Given the description of an element on the screen output the (x, y) to click on. 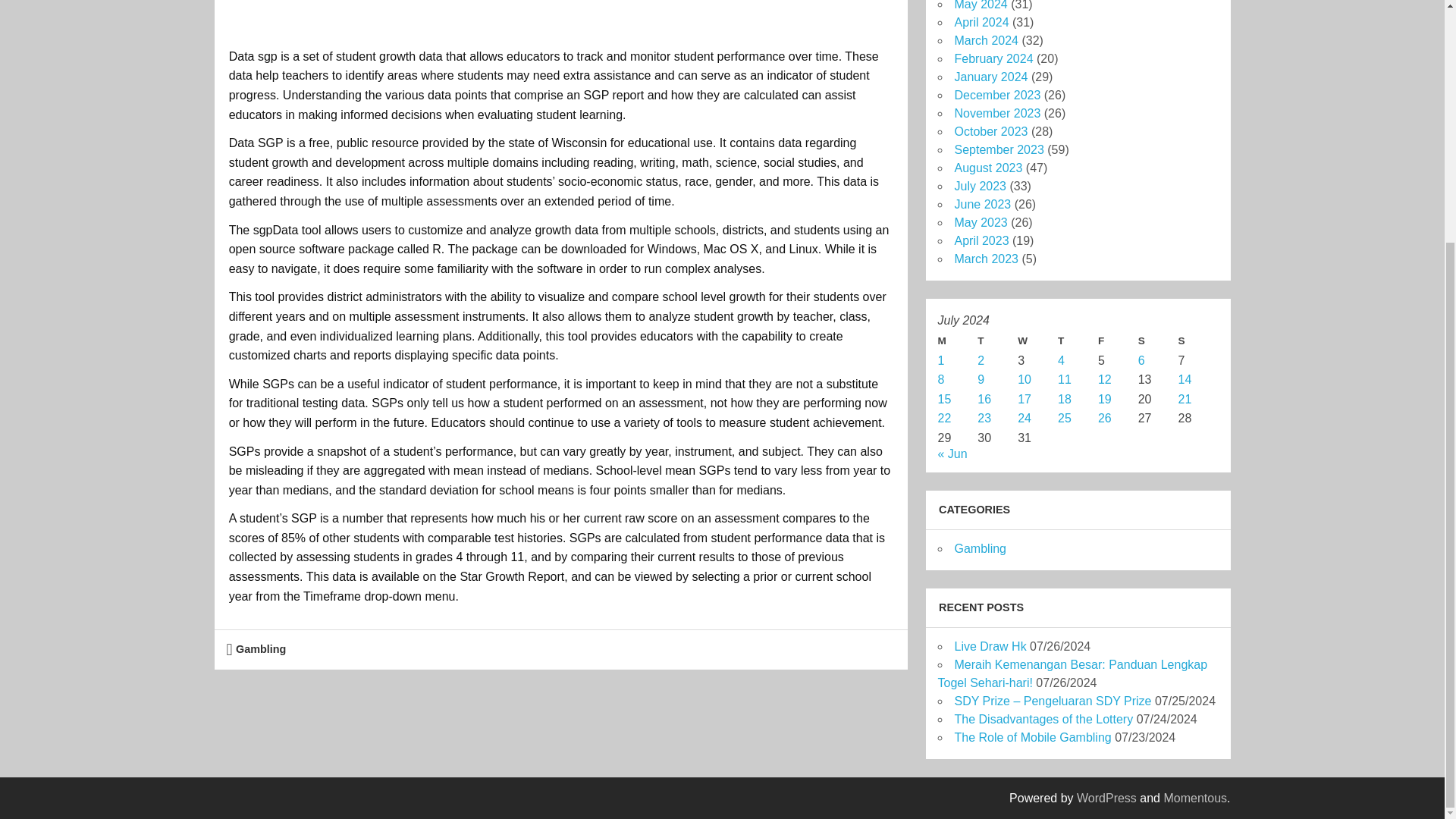
March 2024 (985, 40)
Thursday (1077, 341)
12 (1104, 379)
January 2024 (990, 76)
18 (1064, 399)
April 2023 (981, 240)
16 (983, 399)
July 2023 (979, 185)
Gambling (260, 648)
August 2023 (987, 167)
17 (1023, 399)
14 (1184, 379)
May 2023 (980, 222)
October 2023 (990, 131)
Monday (956, 341)
